Given the description of an element on the screen output the (x, y) to click on. 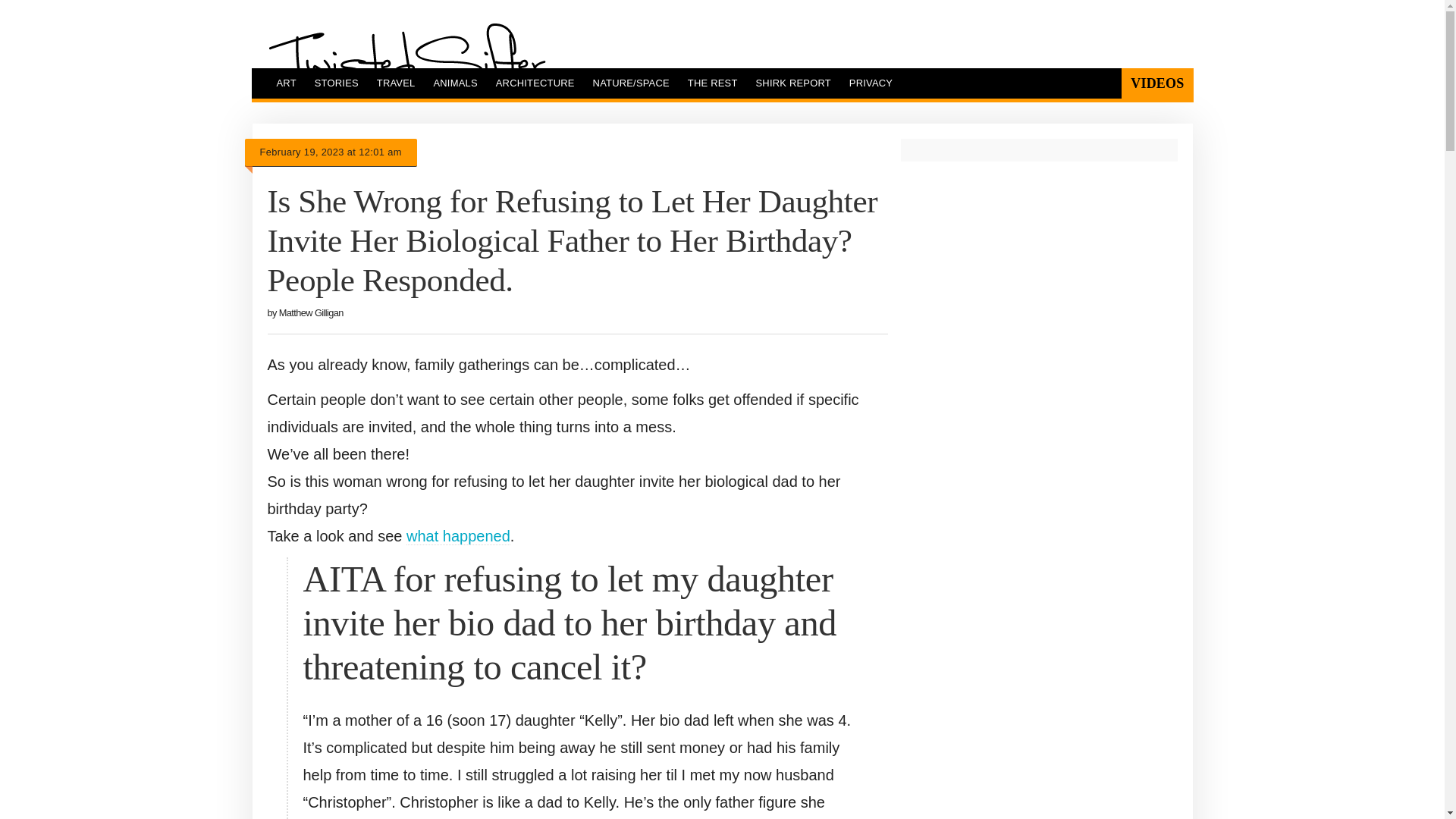
Home (406, 59)
SHIRK REPORT (793, 82)
ART (285, 82)
VIDEOS (1156, 82)
PRIVACY (870, 82)
STORIES (336, 82)
ANIMALS (454, 82)
ARCHITECTURE (534, 82)
TRAVEL (396, 82)
what happened (458, 536)
THE REST (712, 82)
